Given the description of an element on the screen output the (x, y) to click on. 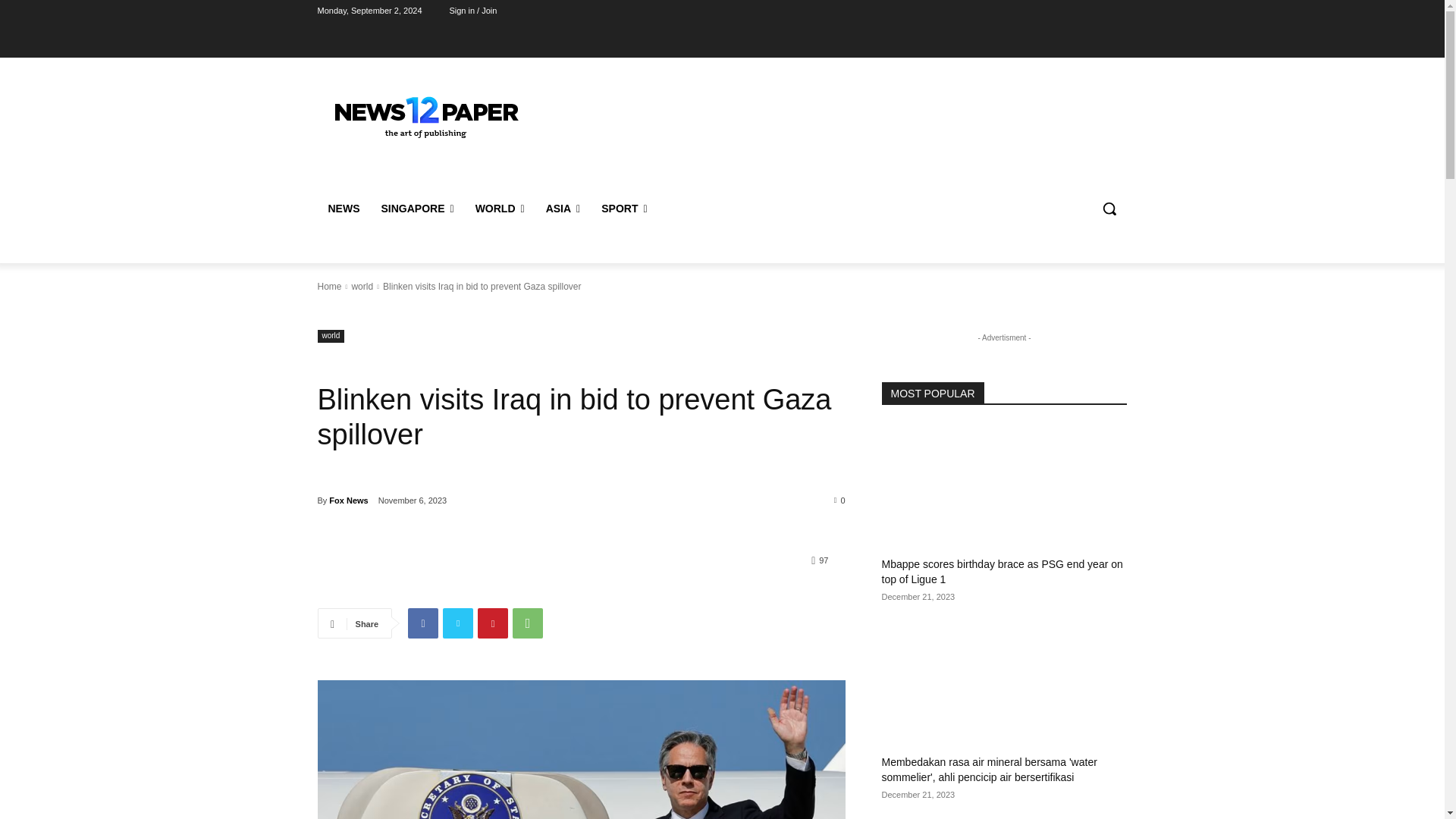
WORLD (499, 208)
SINGAPORE (416, 208)
NEWS (343, 208)
